Given the description of an element on the screen output the (x, y) to click on. 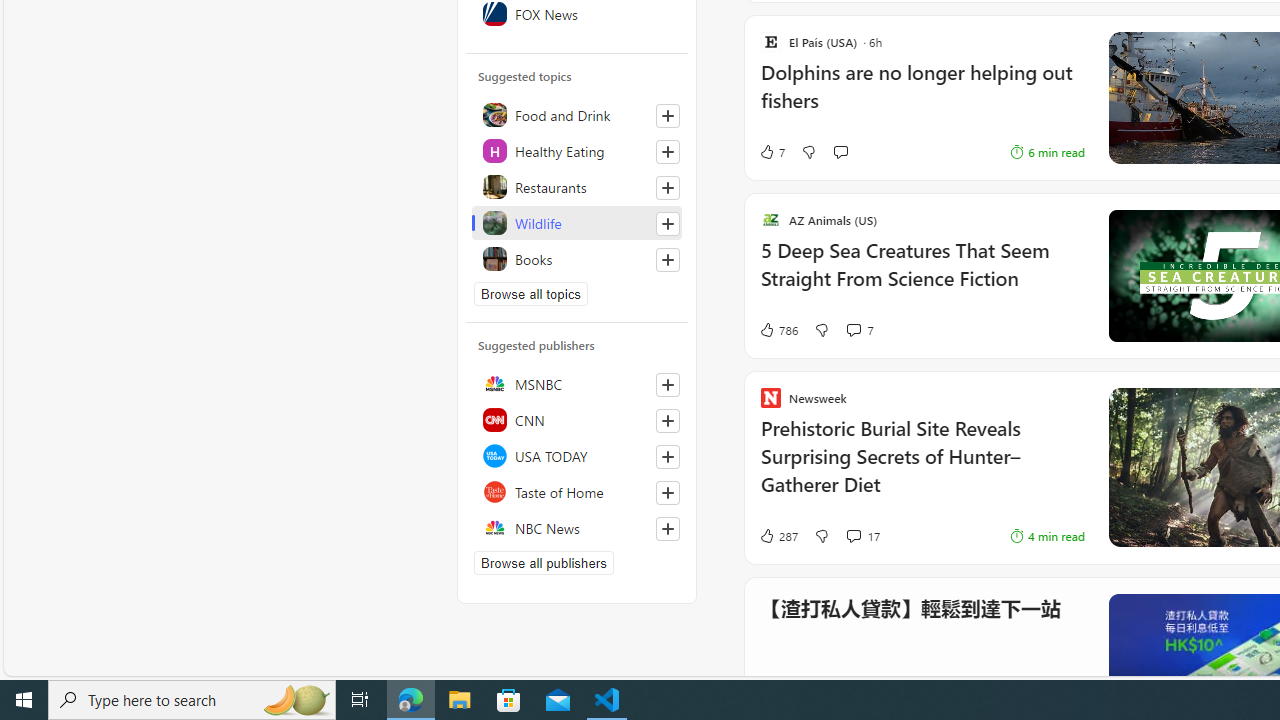
Food and Drink (577, 114)
View comments 17 Comment (862, 536)
